Given the description of an element on the screen output the (x, y) to click on. 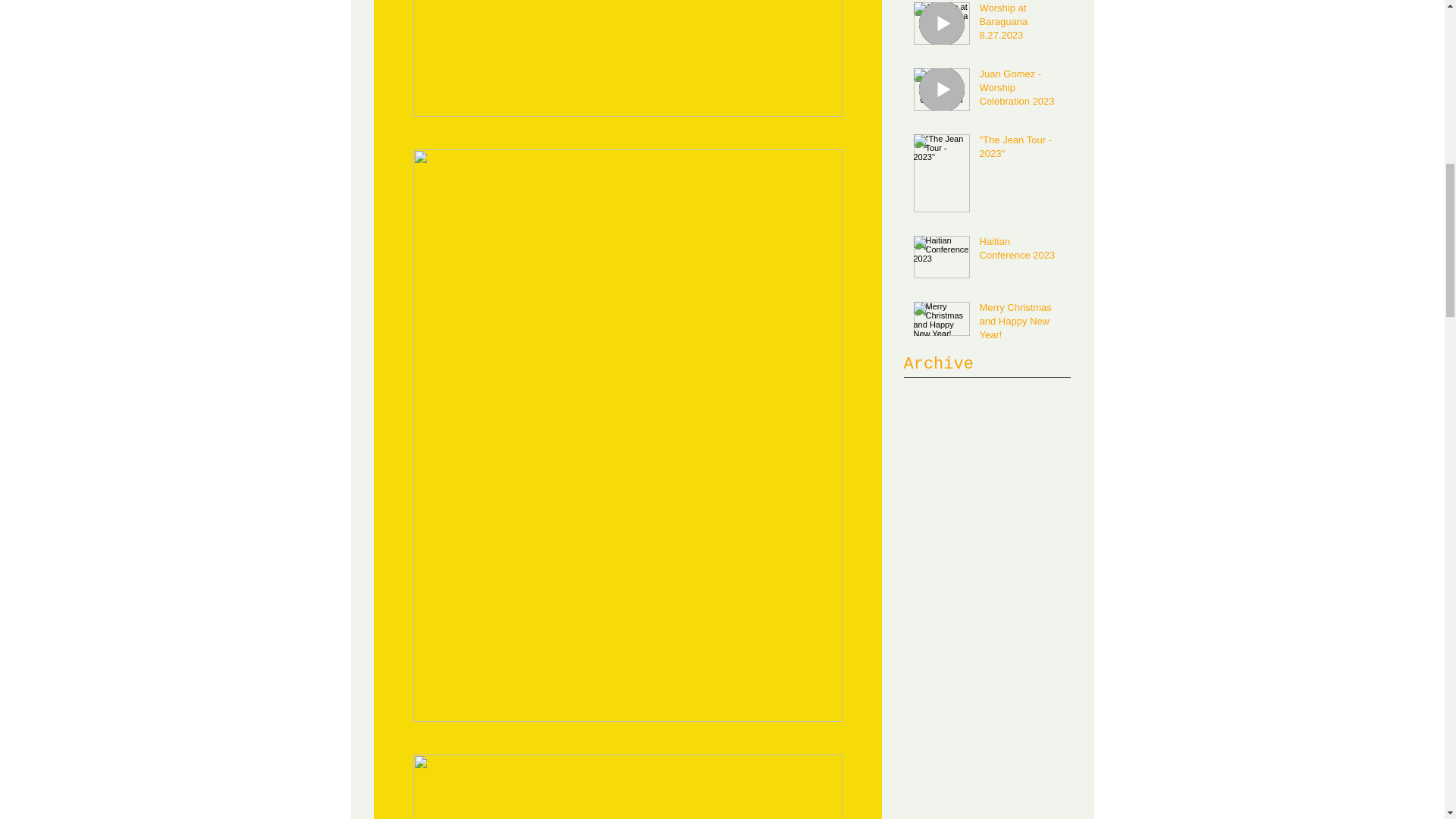
Merry Christmas and Happy New Year! (1020, 324)
Worship at Baraguana 8.27.2023 (1020, 25)
Haitian Conference 2023 (1020, 251)
Juan Gomez - Worship Celebration 2023 (1020, 91)
"The Jean Tour - 2023" (1020, 150)
